Given the description of an element on the screen output the (x, y) to click on. 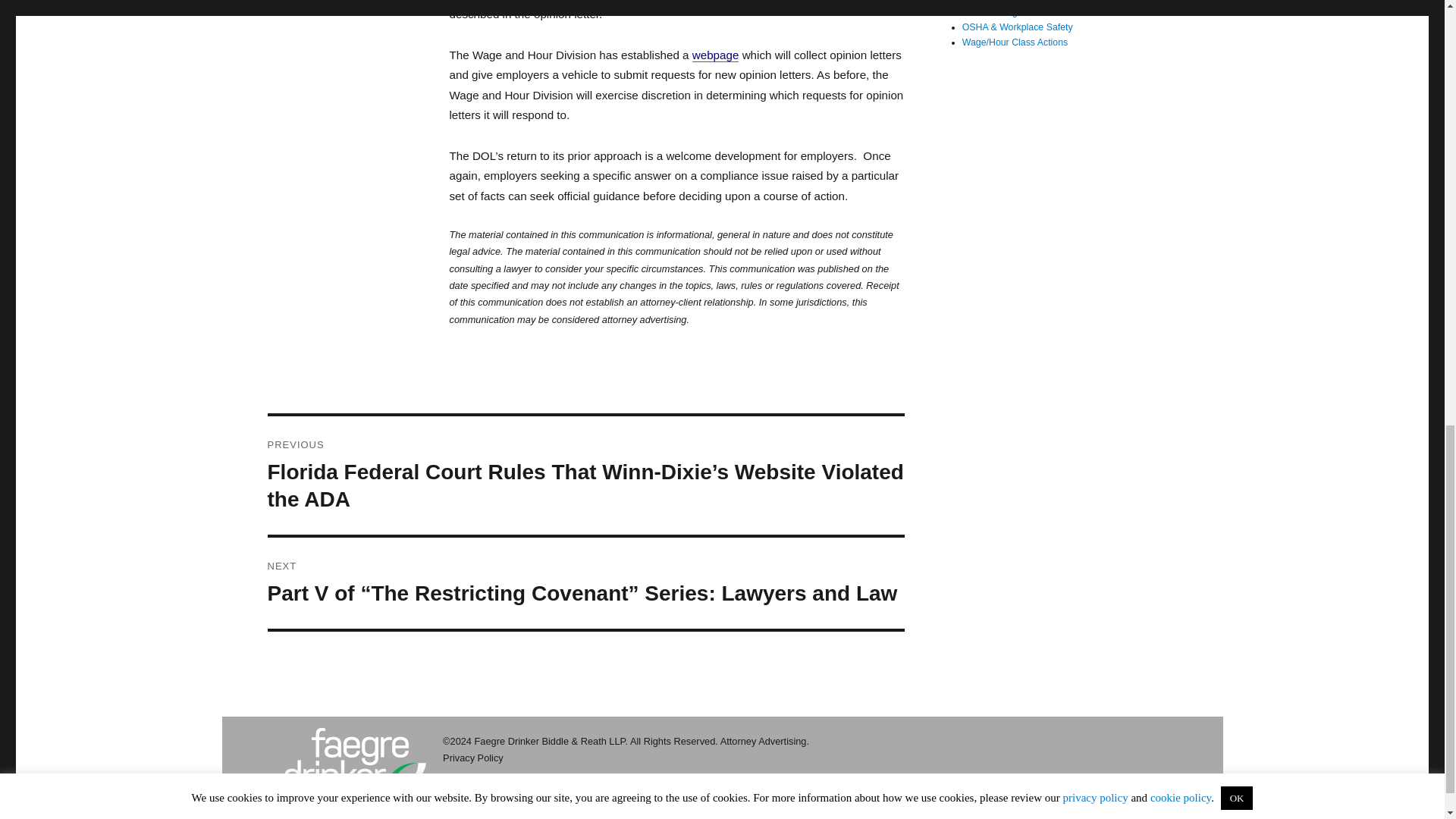
Labor Management Relations (1023, 11)
webpage (716, 54)
Privacy Policy (472, 757)
International Employment (1015, 1)
